Given the description of an element on the screen output the (x, y) to click on. 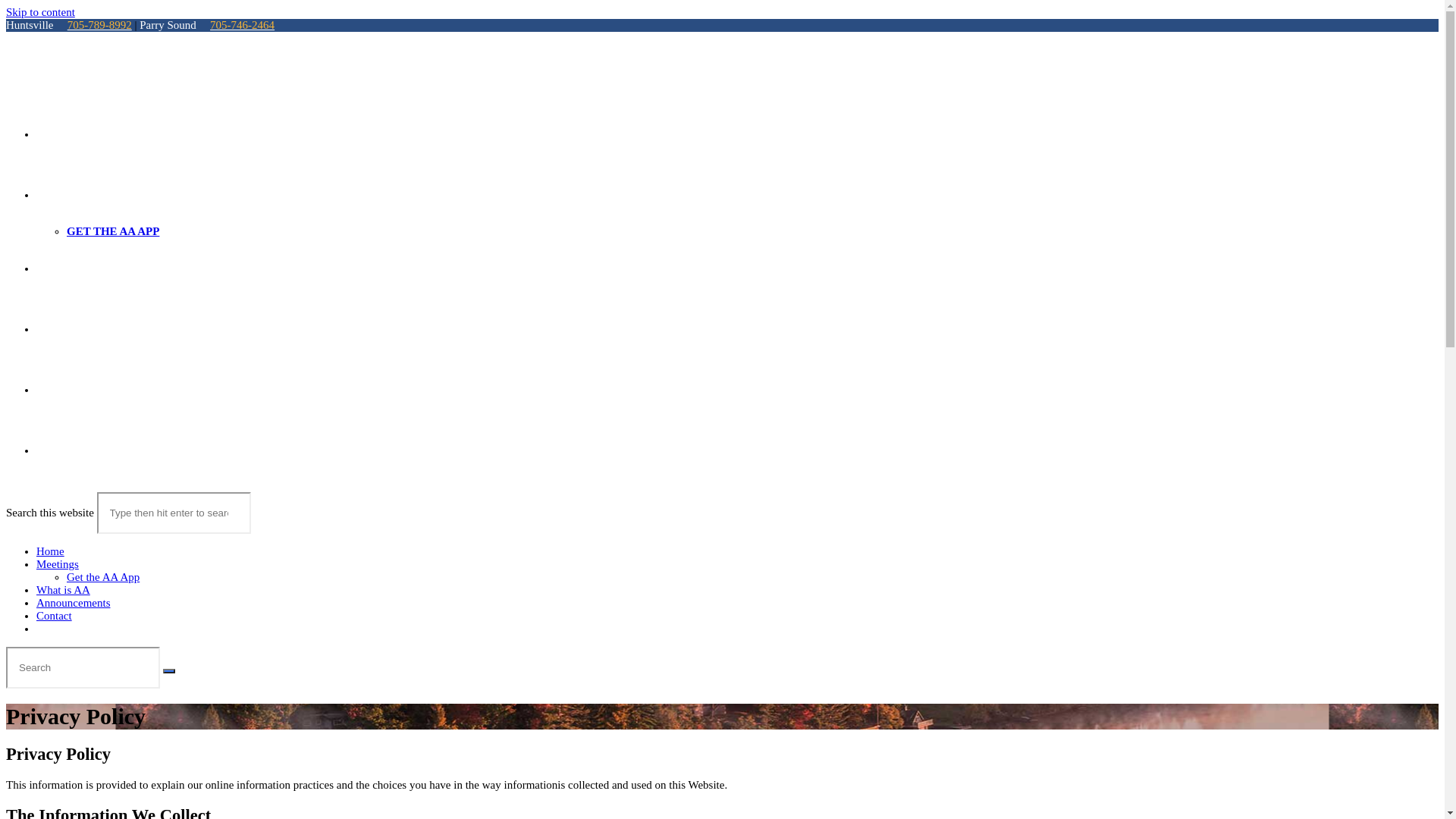
ANNOUNCEMENTS Element type: text (89, 329)
WHAT IS AA Element type: text (69, 268)
HOME Element type: text (54, 134)
MEETINGS Element type: text (66, 194)
CONTACT Element type: text (64, 389)
705-746-2464 Element type: text (242, 24)
GET THE AA APP Element type: text (112, 231)
705-789-8992 Element type: text (99, 24)
Meetings Element type: text (57, 564)
Home Element type: text (50, 551)
What is AA Element type: text (63, 589)
Contact Element type: text (54, 615)
Skip to content Element type: text (40, 12)
Get the AA App Element type: text (102, 577)
Announcements Element type: text (72, 602)
